Given the description of an element on the screen output the (x, y) to click on. 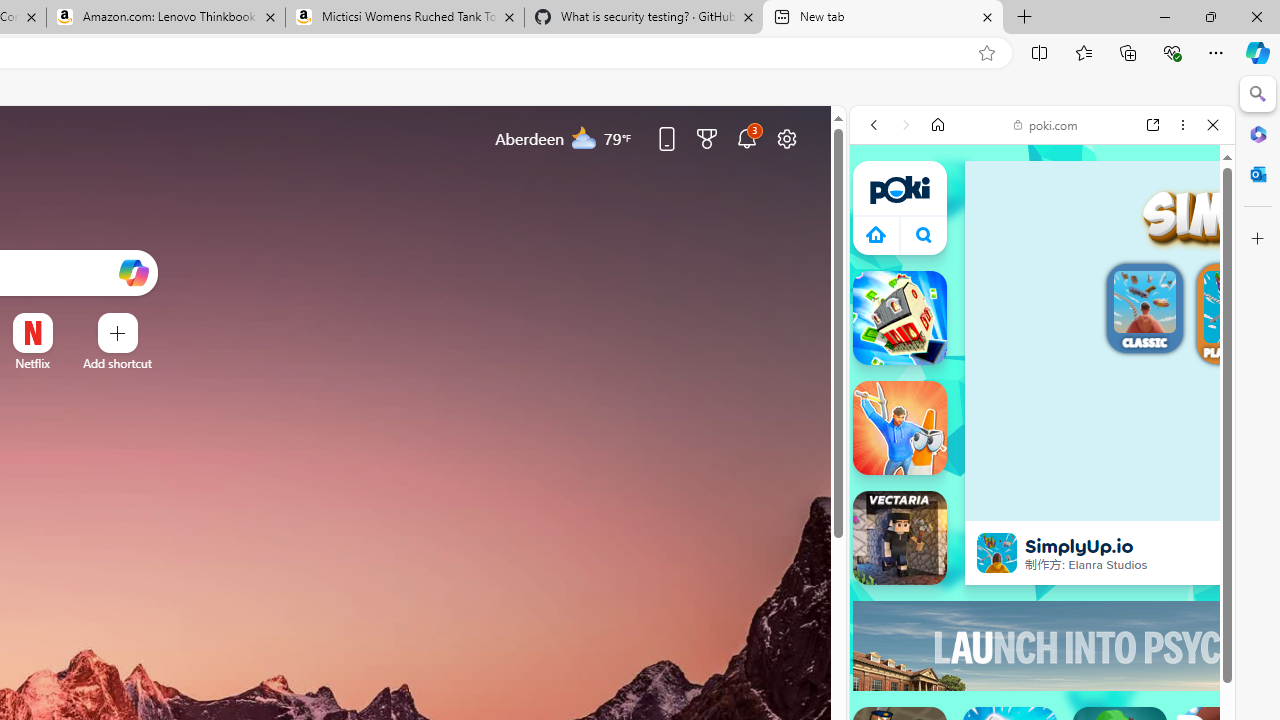
Poki - Free Online Games - Play Now! (1034, 343)
CLASSIC (1144, 311)
Two Player Games (1042, 602)
Shooting Games (1042, 552)
